Given the description of an element on the screen output the (x, y) to click on. 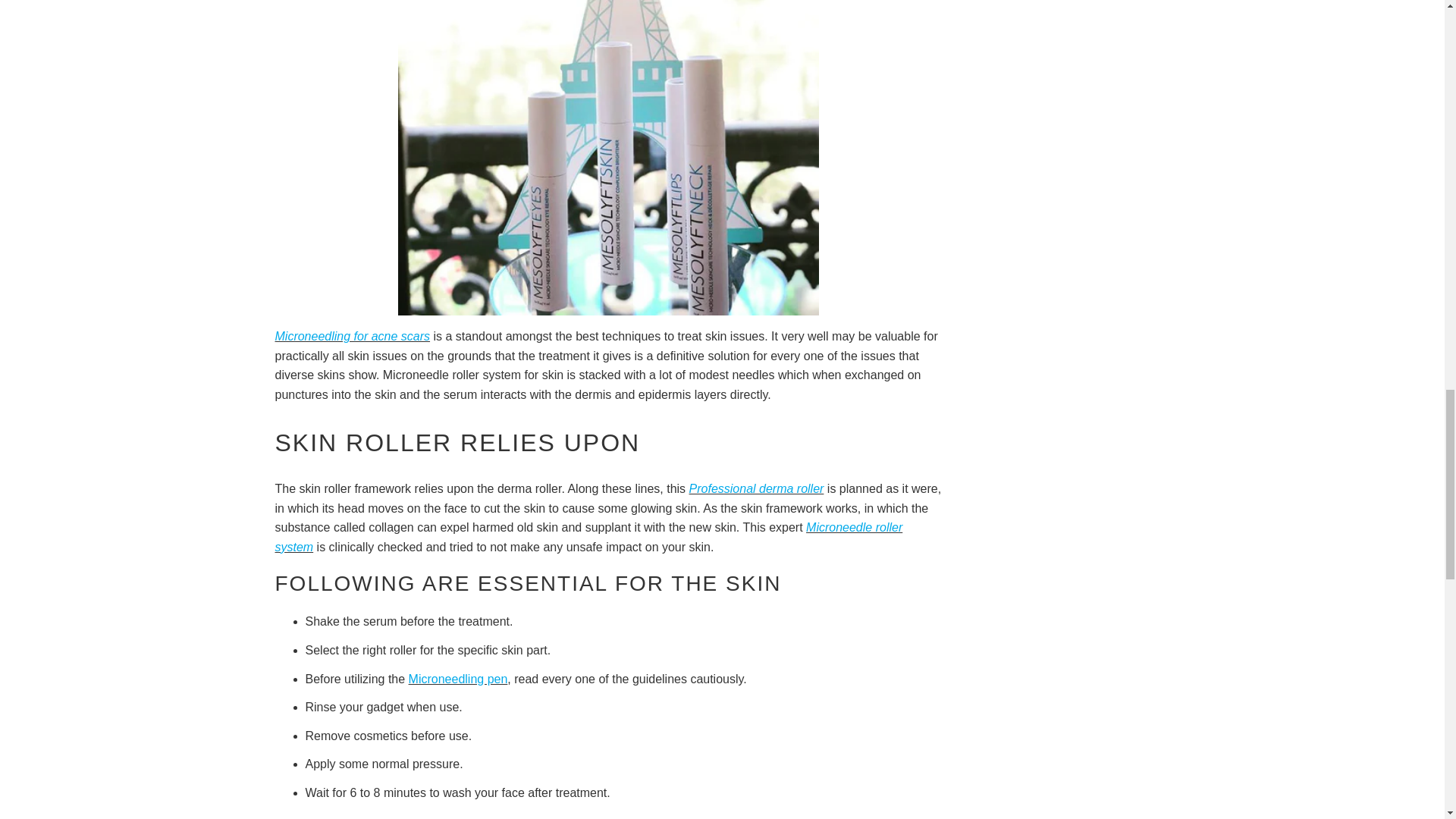
Professional derma roller (756, 488)
Microneedling pen (458, 678)
Microneedle roller system (588, 536)
Microneedling for acne scars (352, 336)
Professional derma roller (756, 488)
Microneedling for acne scars (352, 336)
Microneedle roller system (588, 536)
Microneedling pen (458, 678)
